Given the description of an element on the screen output the (x, y) to click on. 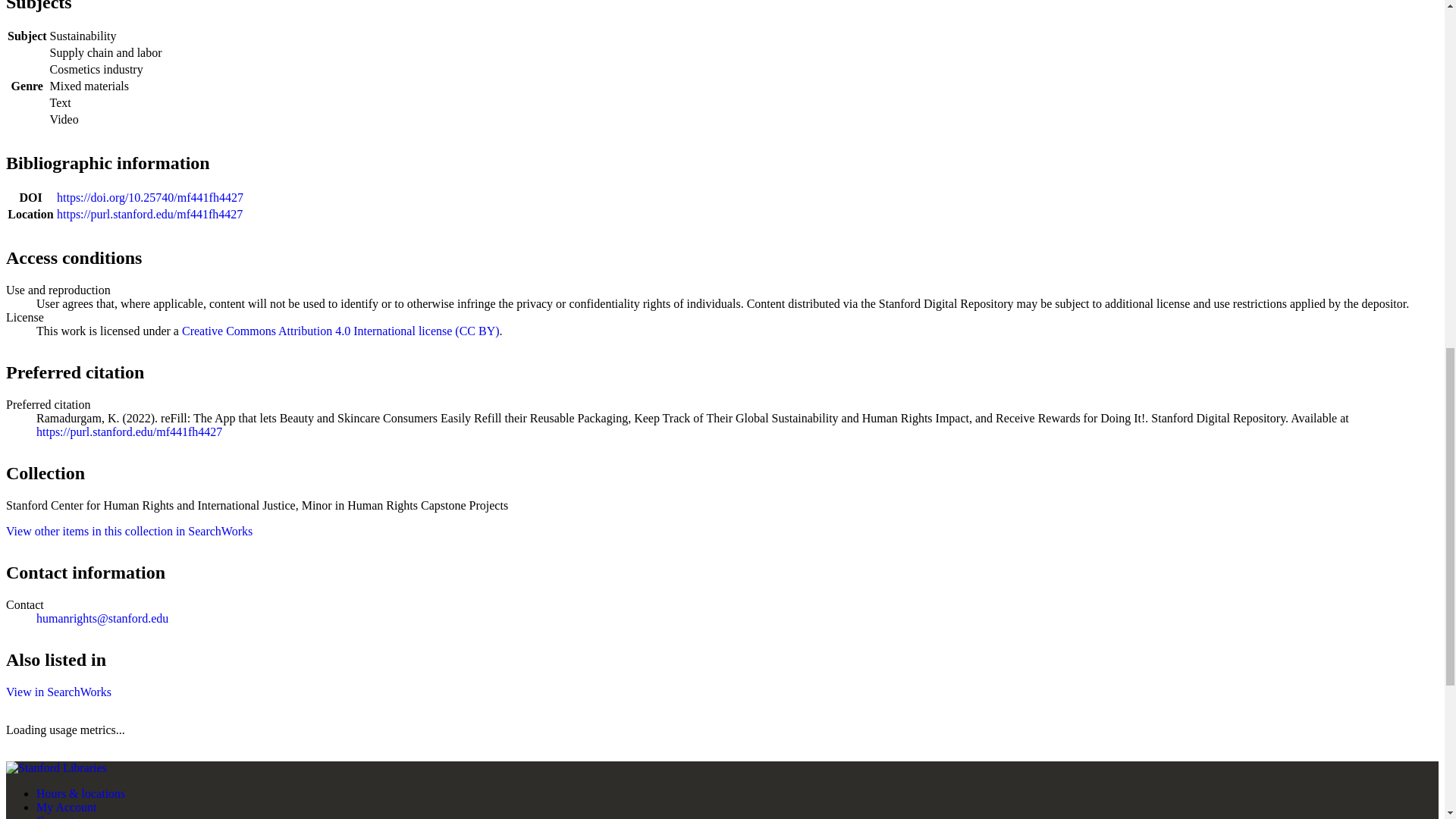
My Account (66, 807)
View other items in this collection in SearchWorks (128, 530)
View in SearchWorks (58, 691)
Contact us (61, 816)
